Given the description of an element on the screen output the (x, y) to click on. 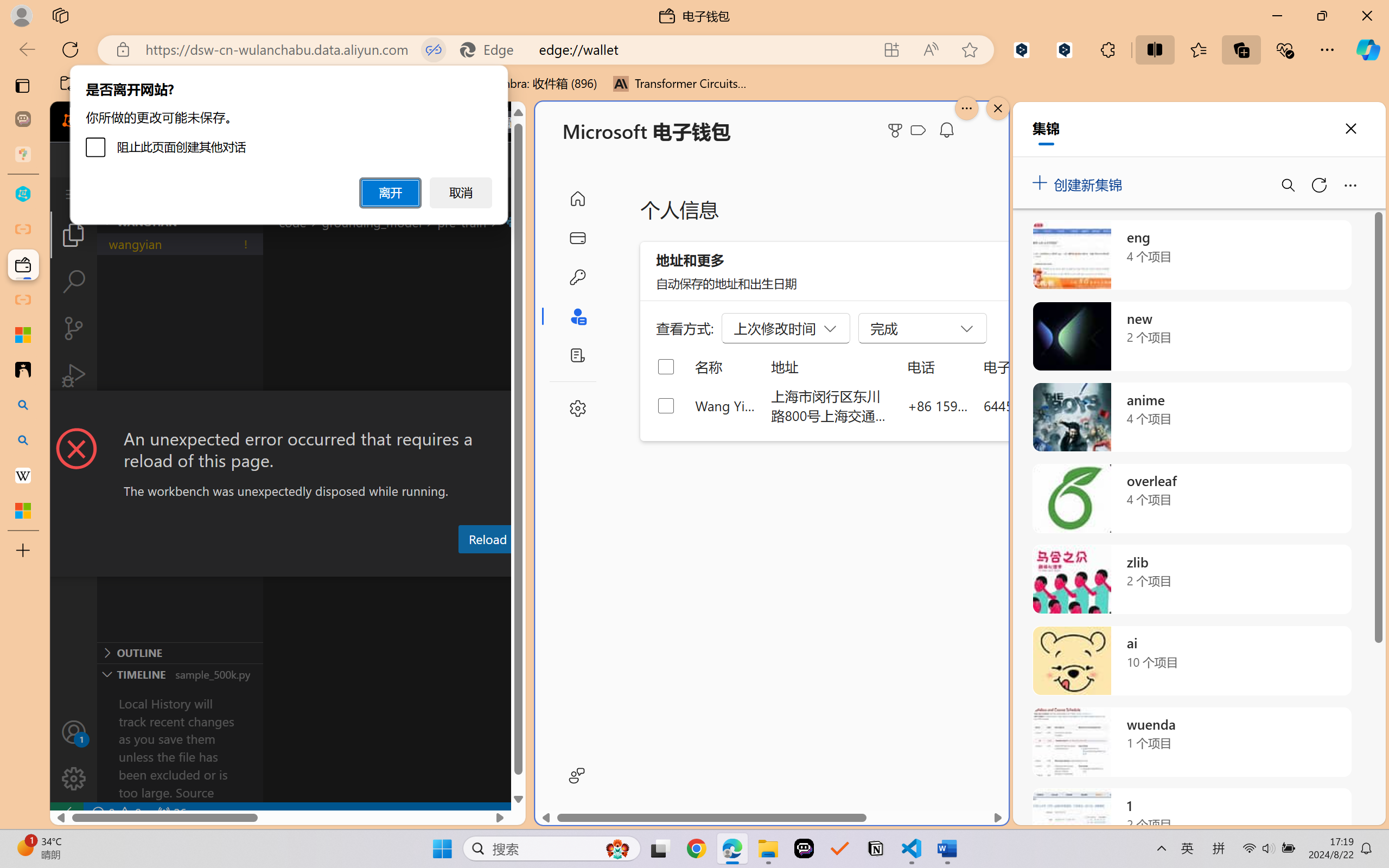
Manage (73, 755)
No Problems (115, 812)
Extensions (Ctrl+Shift+X) (73, 422)
